Given the description of an element on the screen output the (x, y) to click on. 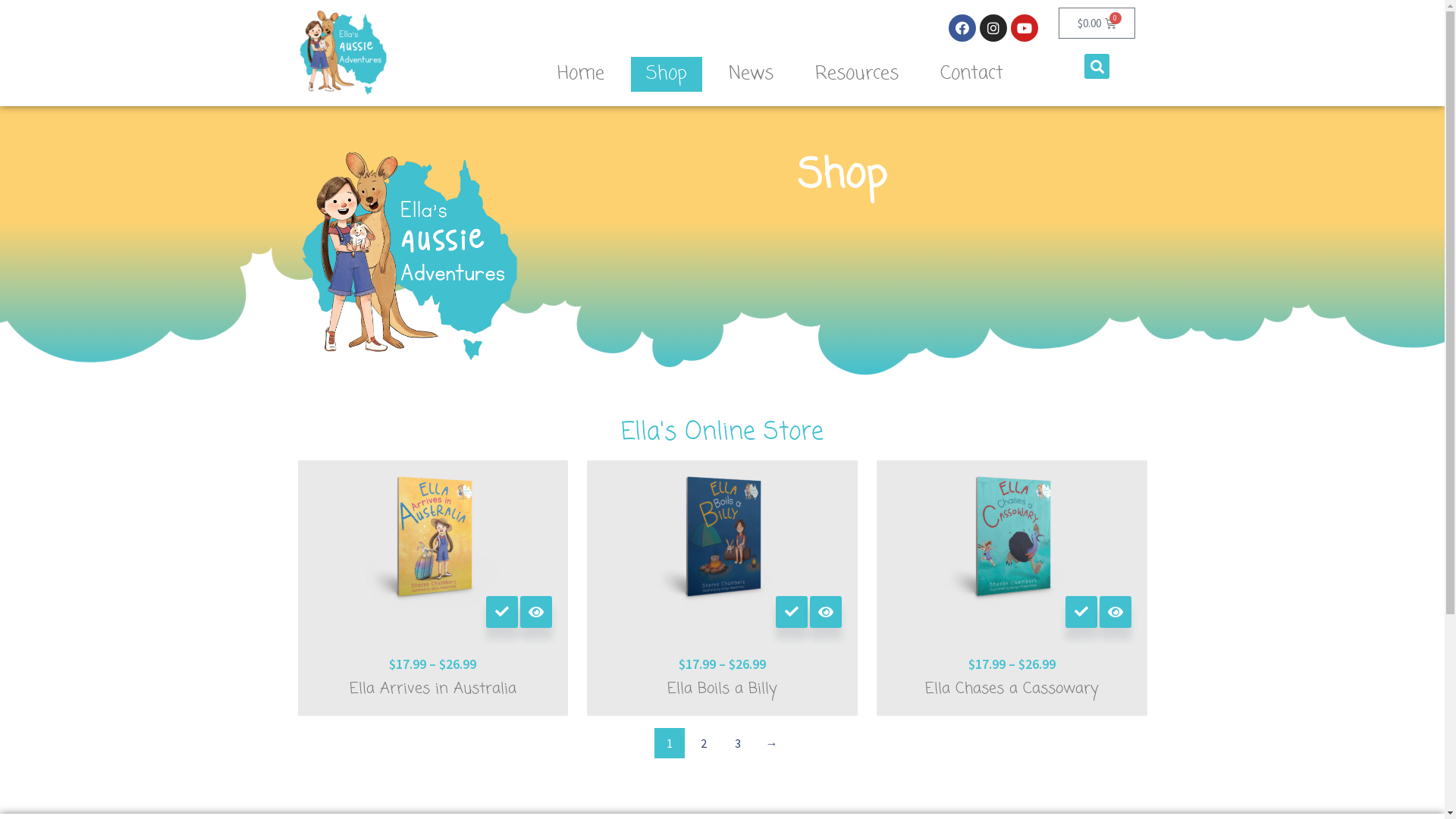
Home Element type: text (580, 73)
Ella Boils a Billy Element type: text (722, 688)
3 Element type: text (736, 743)
Select Options Element type: text (791, 611)
News Element type: text (750, 73)
Select Options Element type: text (1081, 611)
Shop Element type: text (666, 73)
Ella Chases a Cassowary Element type: text (1011, 688)
Ella Arrives in Australia Element type: text (433, 688)
$0.00
0 Element type: text (1096, 22)
Resources Element type: text (856, 73)
Select Options Element type: text (501, 611)
1 Element type: text (668, 743)
2 Element type: text (703, 743)
Contact Element type: text (971, 73)
